Given the description of an element on the screen output the (x, y) to click on. 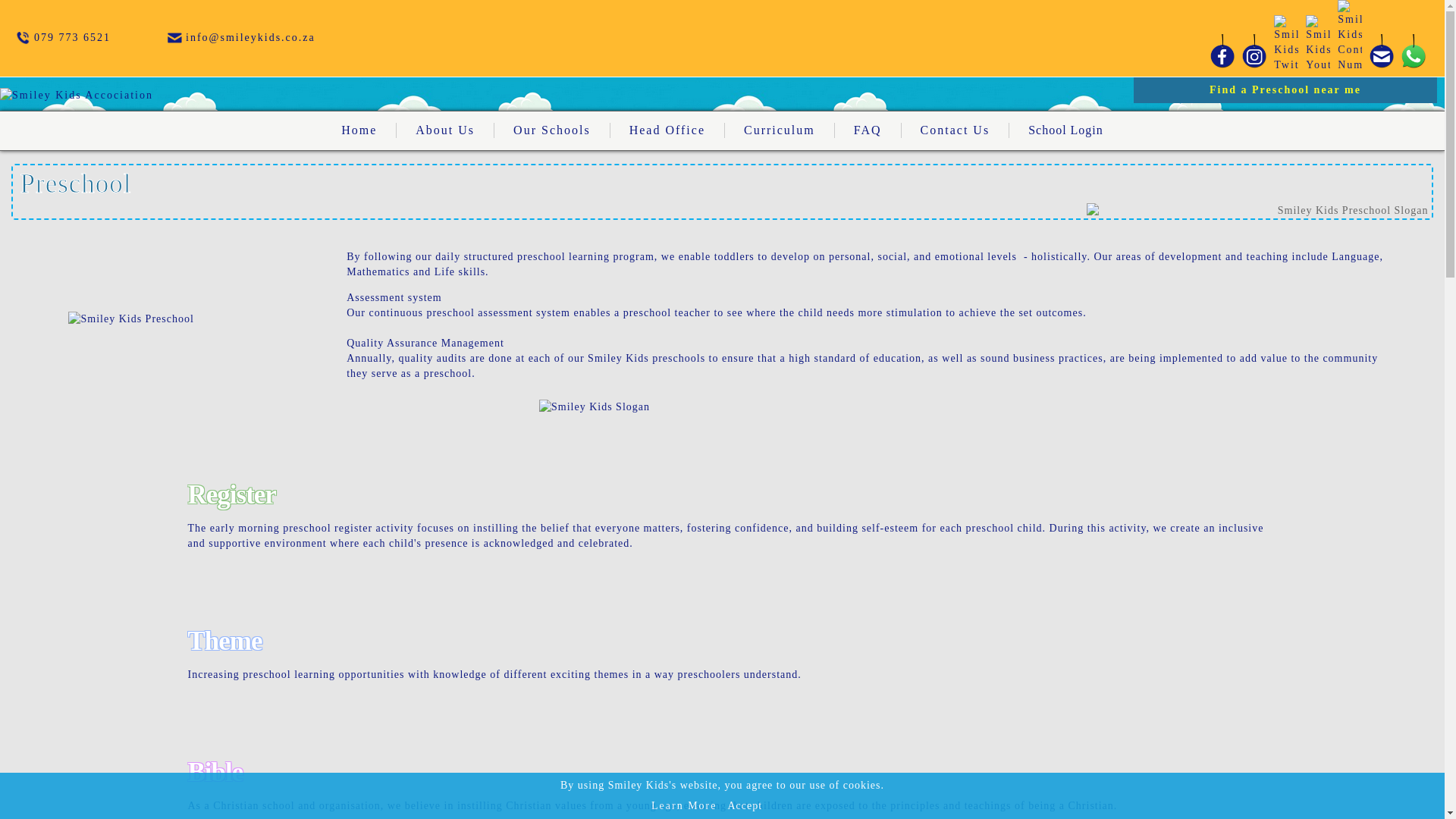
Smiley Kids E-mail (1381, 50)
Smiley Kids E-mail Address (173, 37)
Smiley Kids Facebook (1223, 50)
Smiley Kids Facebook (1221, 50)
Smiley Kids Youtube (1318, 43)
Smiley Kids Contact Number (71, 37)
Smiley Kids Accociation (151, 98)
Smiley Kids Twitter (1285, 43)
Smiley Kids E-mail (1381, 50)
Smiley Kids Youtube (1317, 43)
Smiley Kids Contact Number (1349, 36)
Smiley Kids E-mail (1413, 50)
Smiley Kids Twitter (1286, 43)
Smiley Kids Contact Number (1349, 36)
Smiley Kids Contact Number (21, 37)
